Given the description of an element on the screen output the (x, y) to click on. 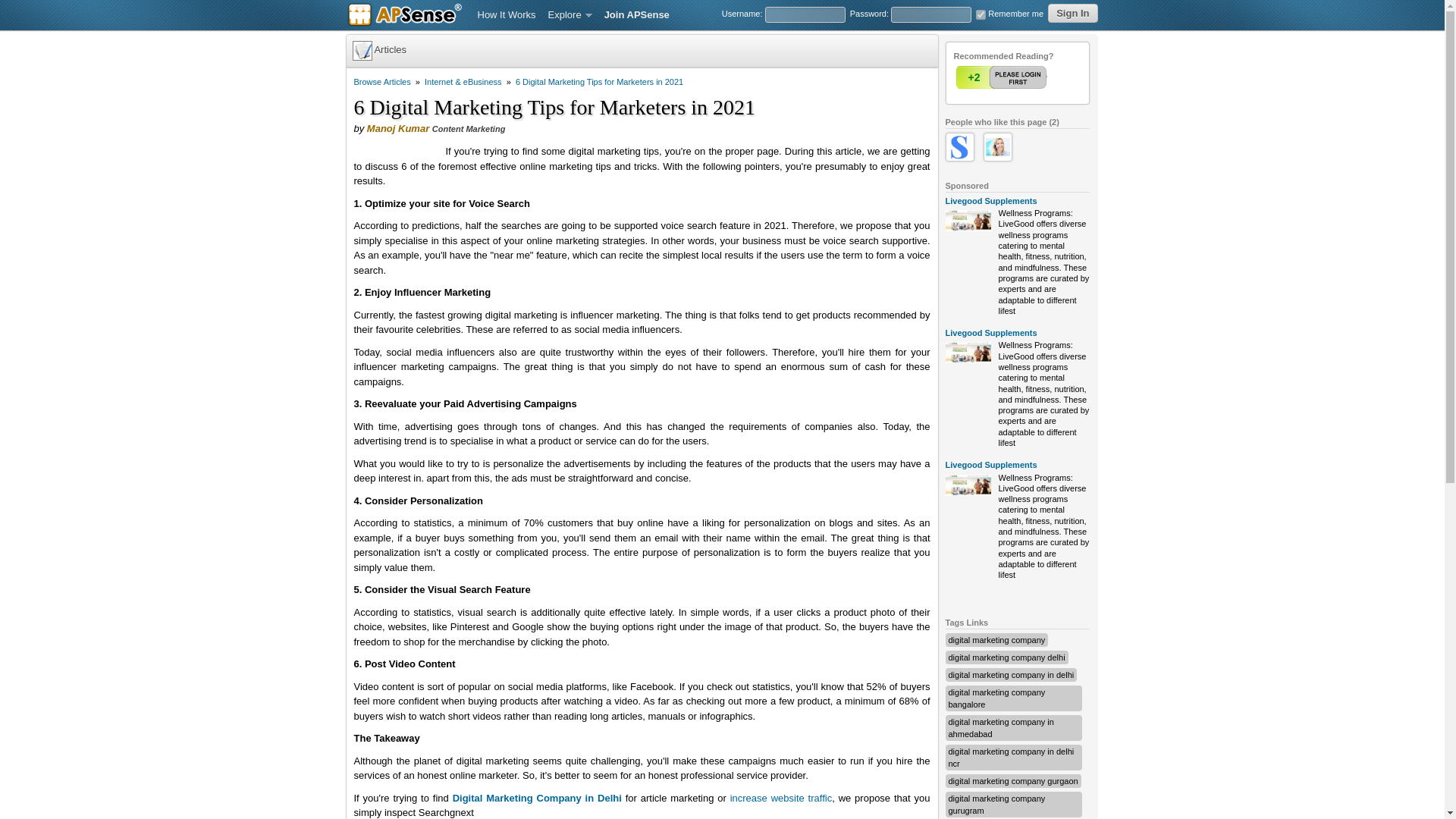
How It Works (506, 15)
Vote Up (1002, 77)
Livegood Supplements (990, 332)
Manoj Kumar (397, 128)
-1 (1031, 77)
Sign In (1072, 13)
-1 (1031, 77)
Vote Down (1031, 77)
6 Digital Marketing Tips for Marketers in 2021 (598, 81)
Join APSense (636, 15)
1 (980, 14)
Livegood Supplements (990, 464)
Explore (569, 15)
increase website traffic (781, 797)
1 (1002, 77)
